Given the description of an element on the screen output the (x, y) to click on. 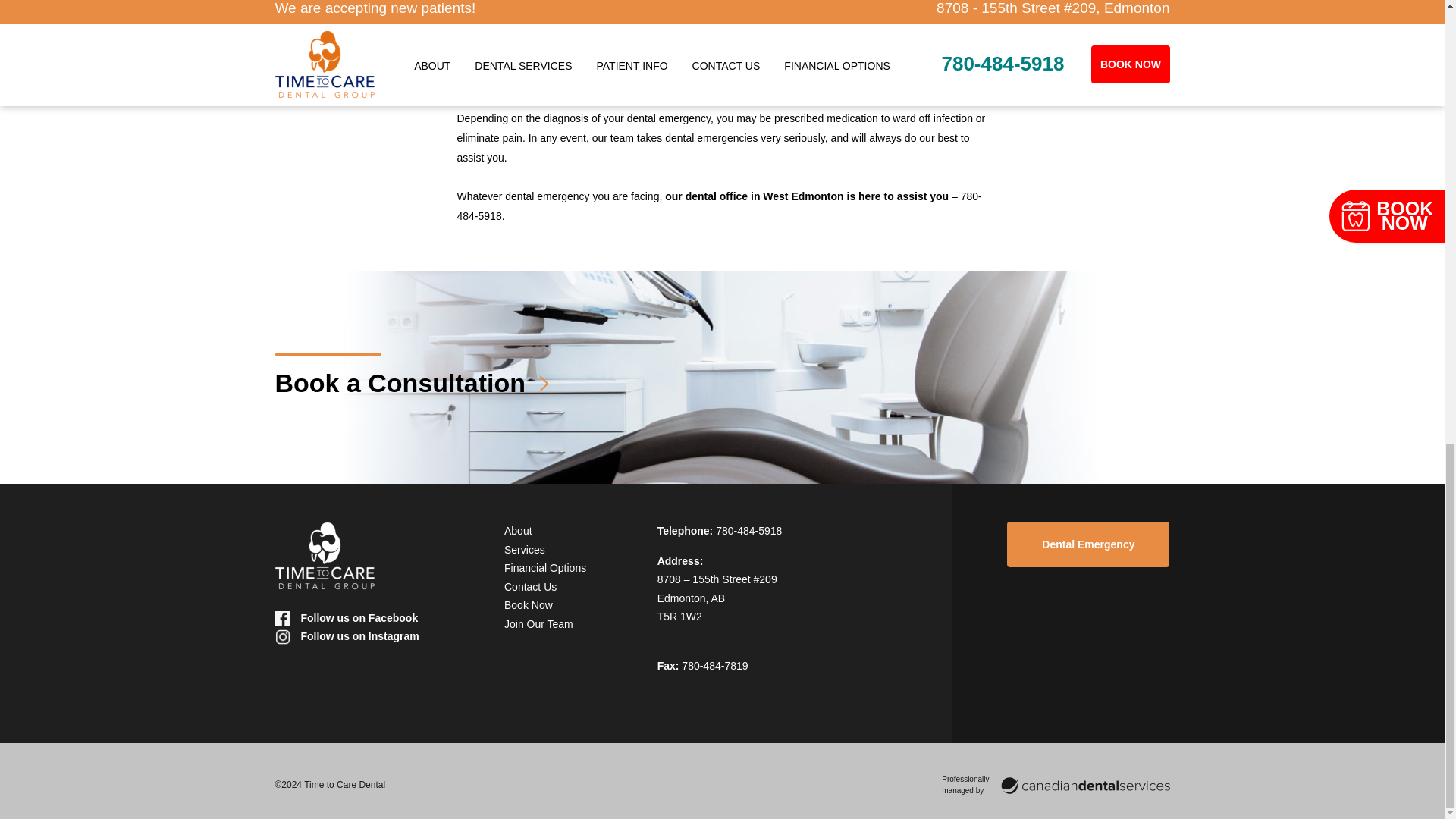
Dental Emergency (1088, 544)
Dental Emergency (1088, 544)
